Given the description of an element on the screen output the (x, y) to click on. 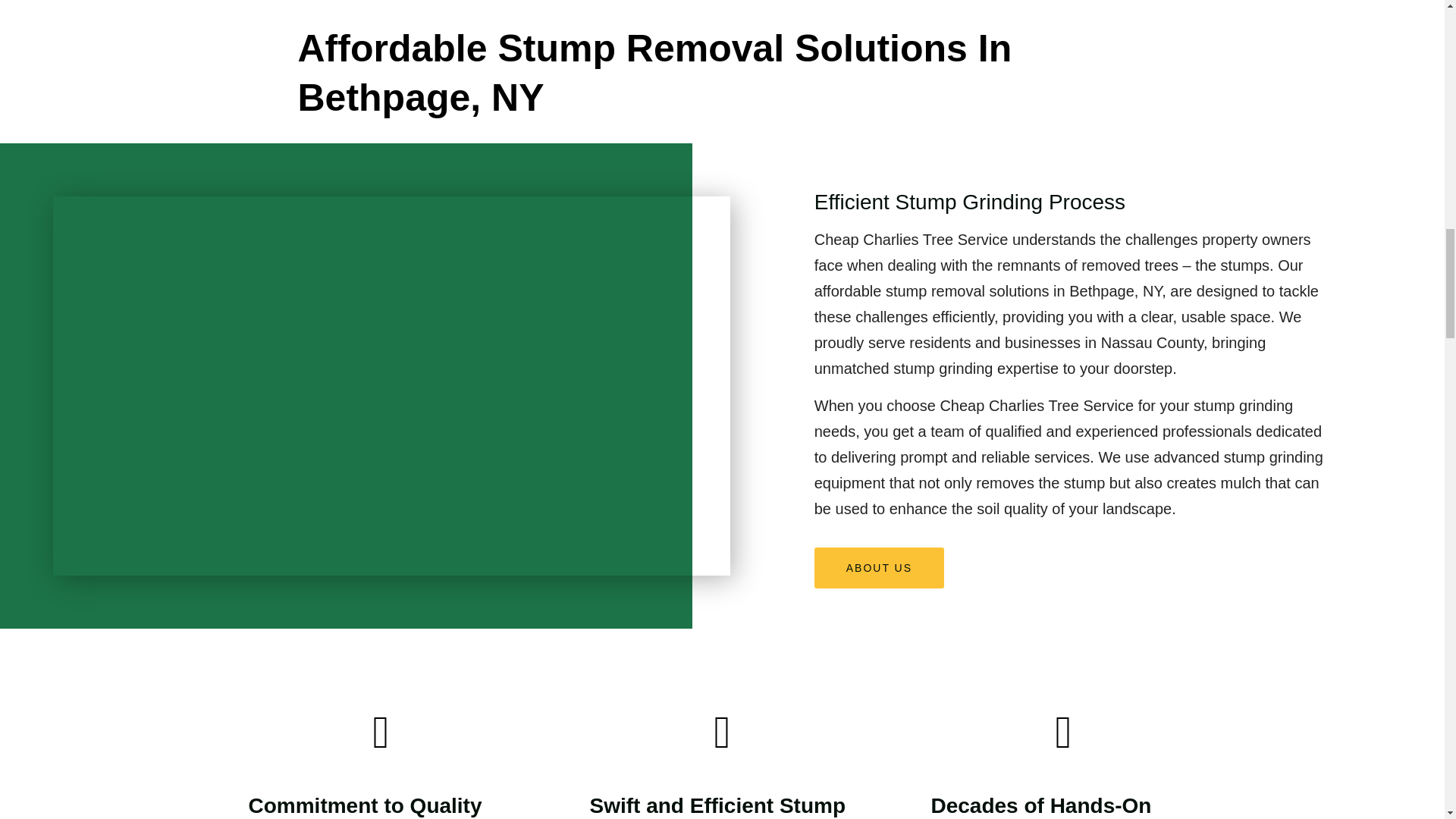
ABOUT US (878, 567)
